Given the description of an element on the screen output the (x, y) to click on. 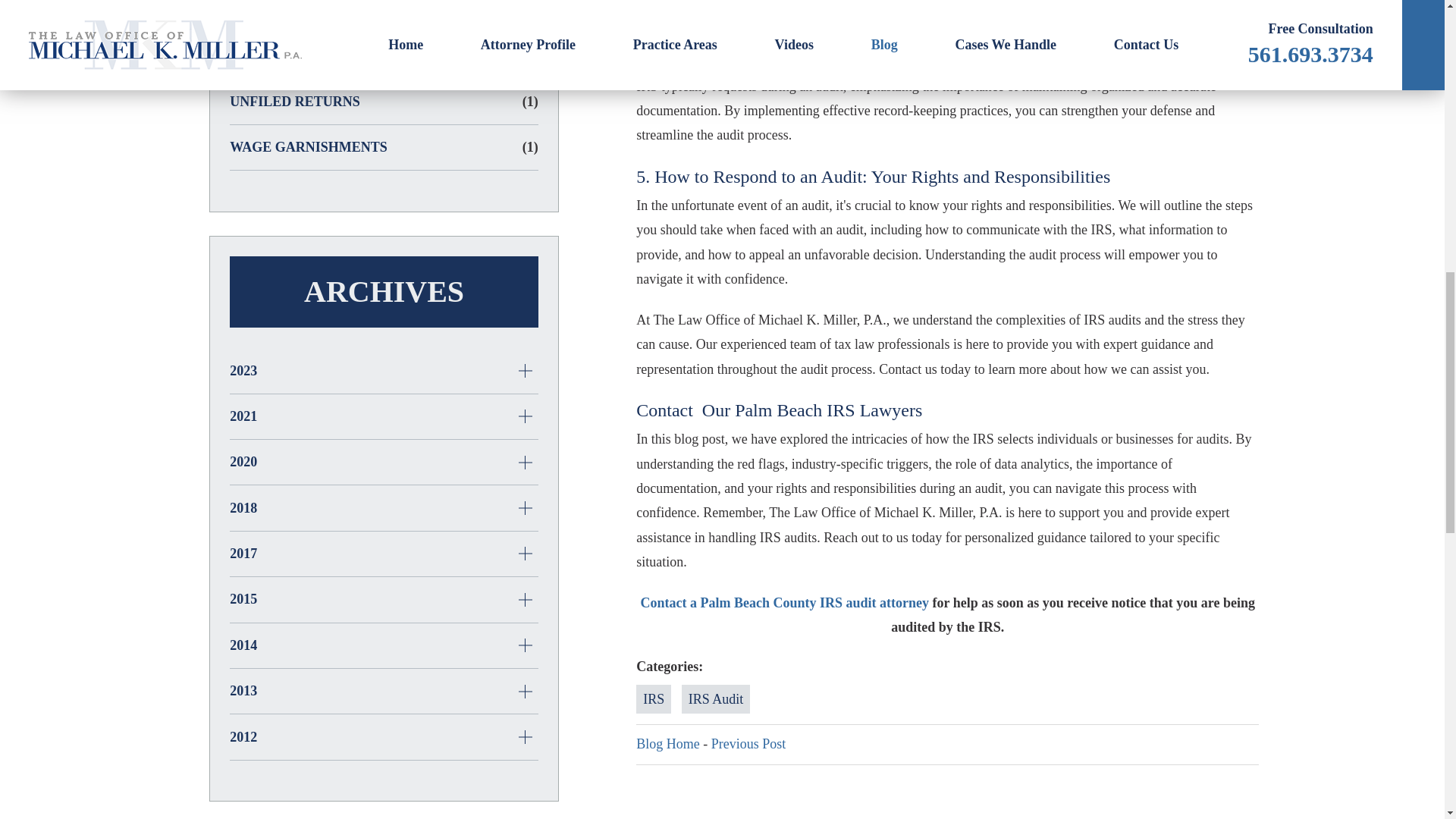
What Documents Do I Need to Provide During an Audit? (748, 743)
